Given the description of an element on the screen output the (x, y) to click on. 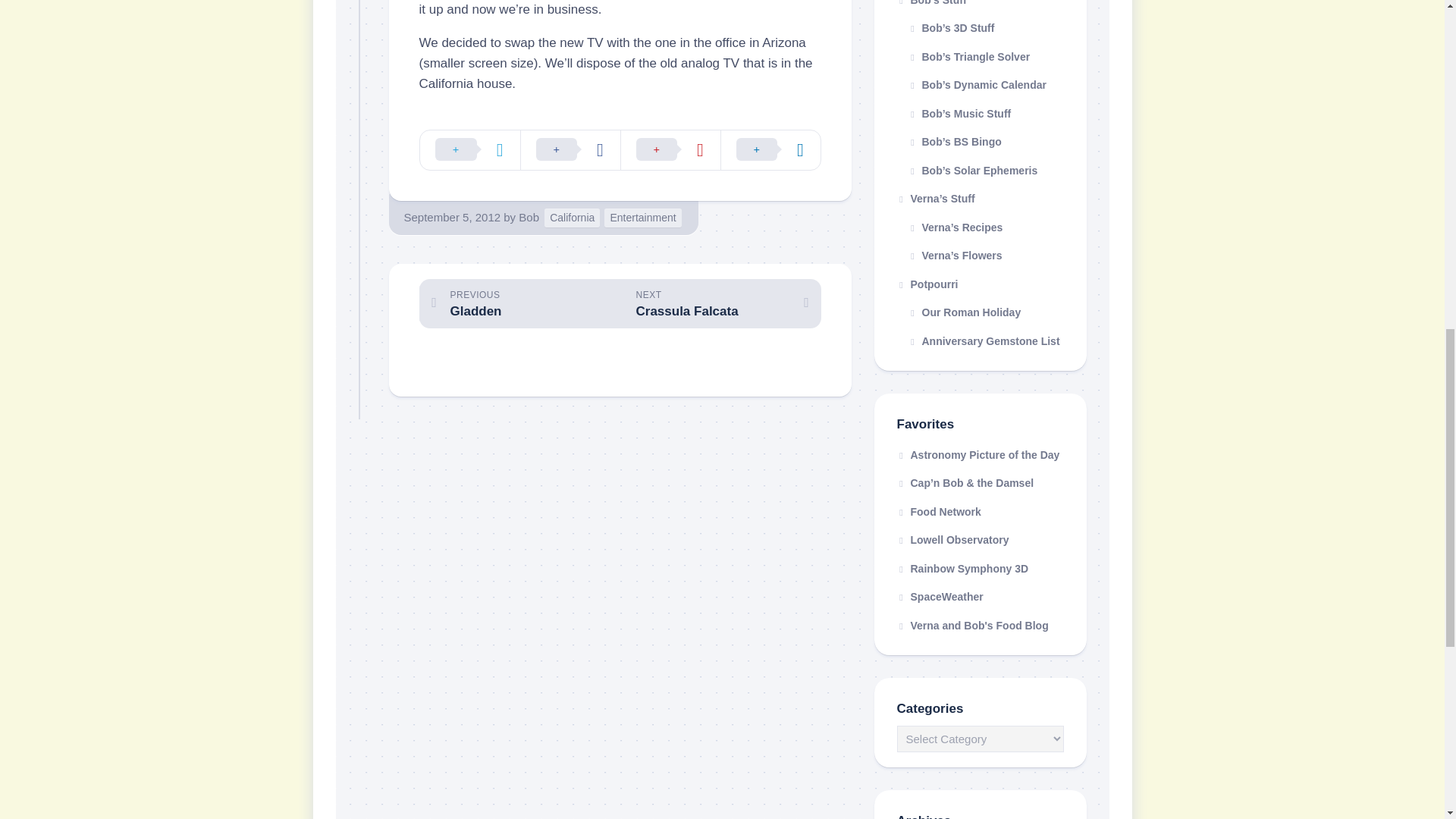
Anniversary Gemstone List (979, 341)
SpaceWeather (939, 596)
Our Roman Holiday (979, 312)
Astronomy Picture of the Day (977, 454)
Share on Pinterest (670, 149)
Entertainment (642, 217)
California (571, 217)
Bob (528, 216)
Friends of Lowell (952, 539)
Lowell Observatory (952, 539)
Free 3D Glasses (961, 568)
Verna and Bob's Food Blog (972, 625)
Share on X (469, 149)
Food Network (937, 511)
Rainbow Symphony 3D (961, 568)
